Given the description of an element on the screen output the (x, y) to click on. 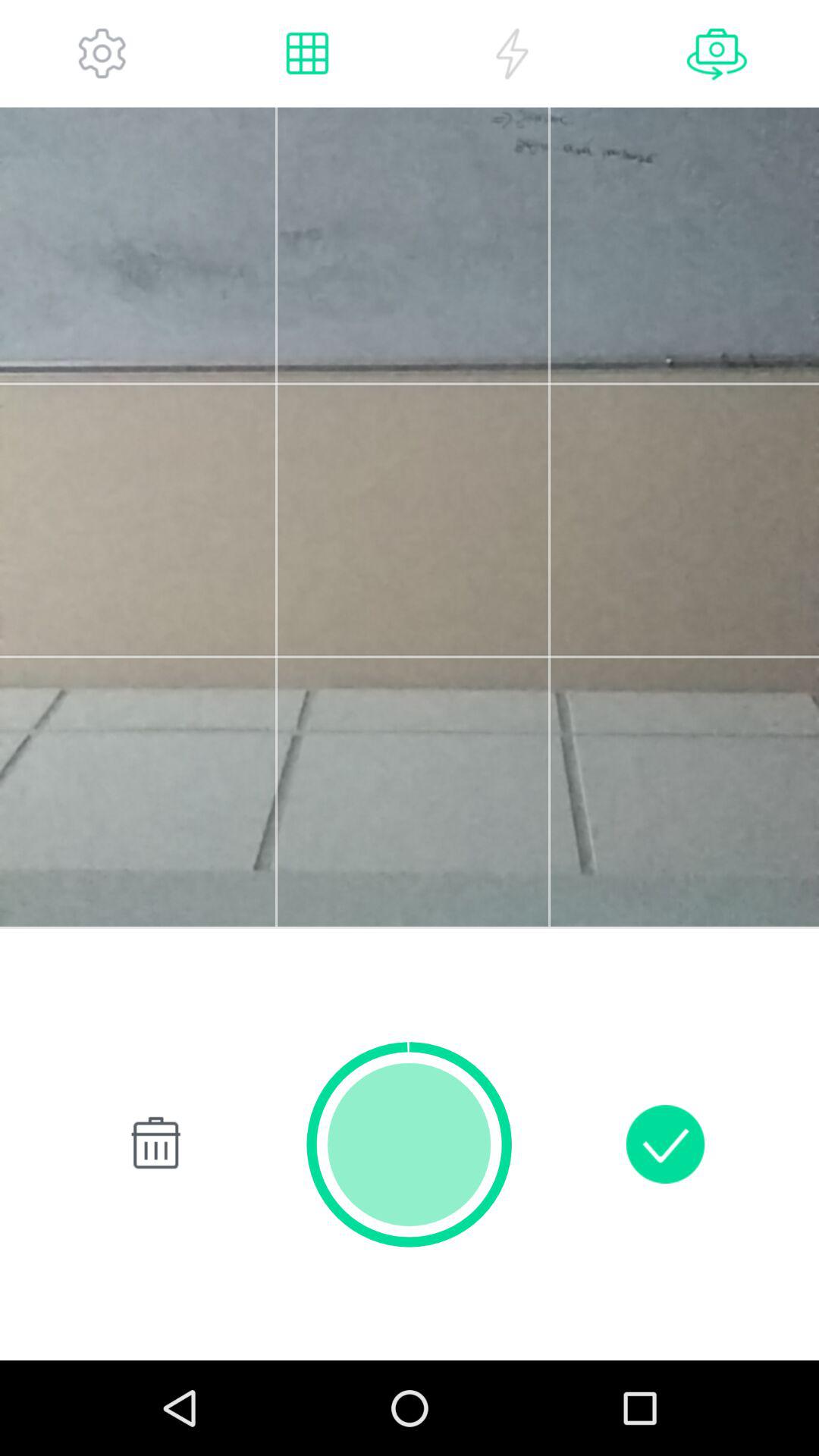
to show grid (306, 53)
